Given the description of an element on the screen output the (x, y) to click on. 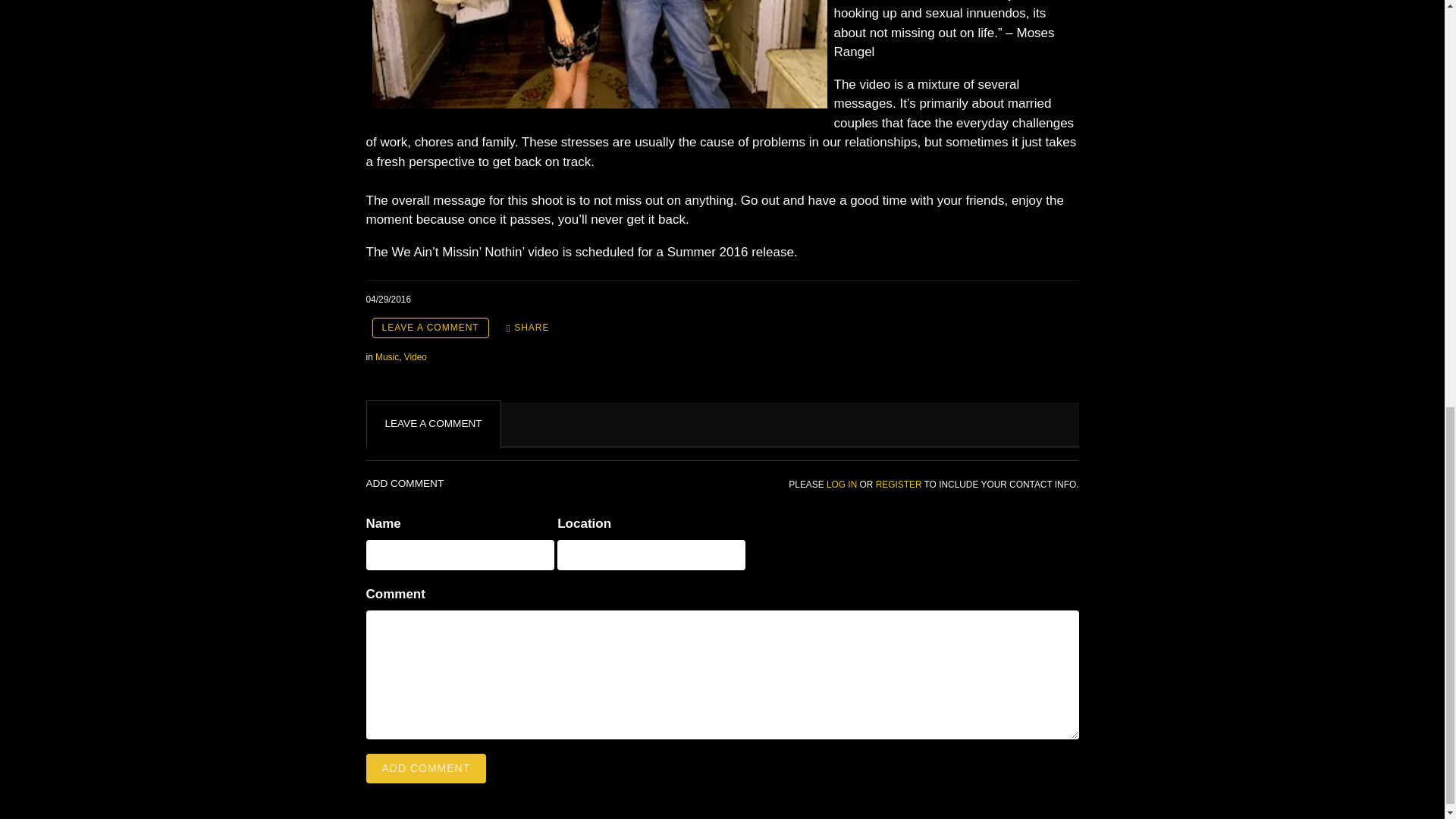
Music (386, 357)
SHARE (528, 327)
April 29, 2016 04:27 (387, 299)
LEAVE A COMMENT (429, 327)
ADD COMMENT (425, 768)
Video (415, 357)
LOG IN (842, 484)
REGISTER (898, 484)
Leave a comment (429, 327)
